Given the description of an element on the screen output the (x, y) to click on. 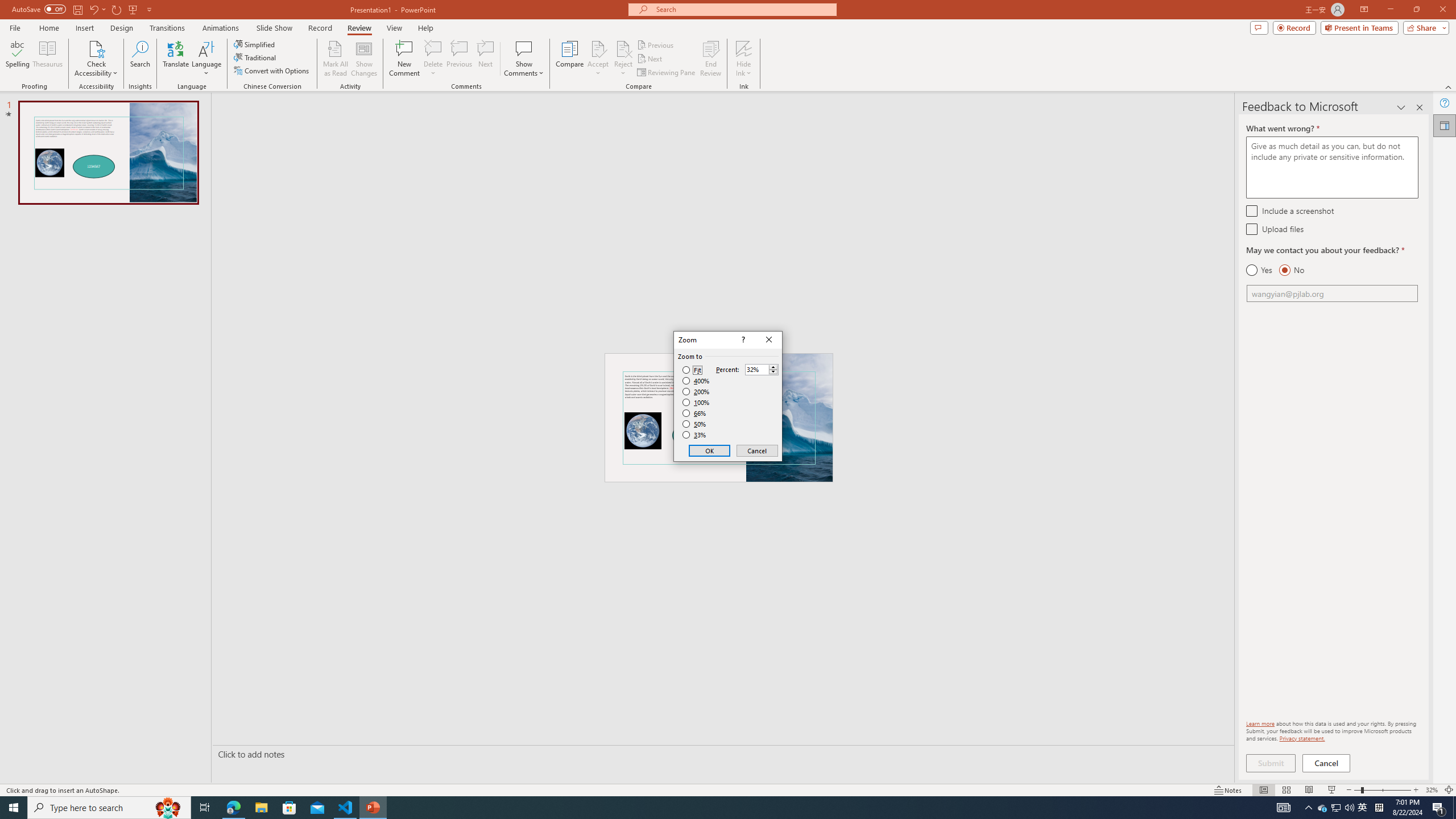
Privacy statement. (1301, 738)
Hide Ink (743, 48)
Translate (175, 58)
